Given the description of an element on the screen output the (x, y) to click on. 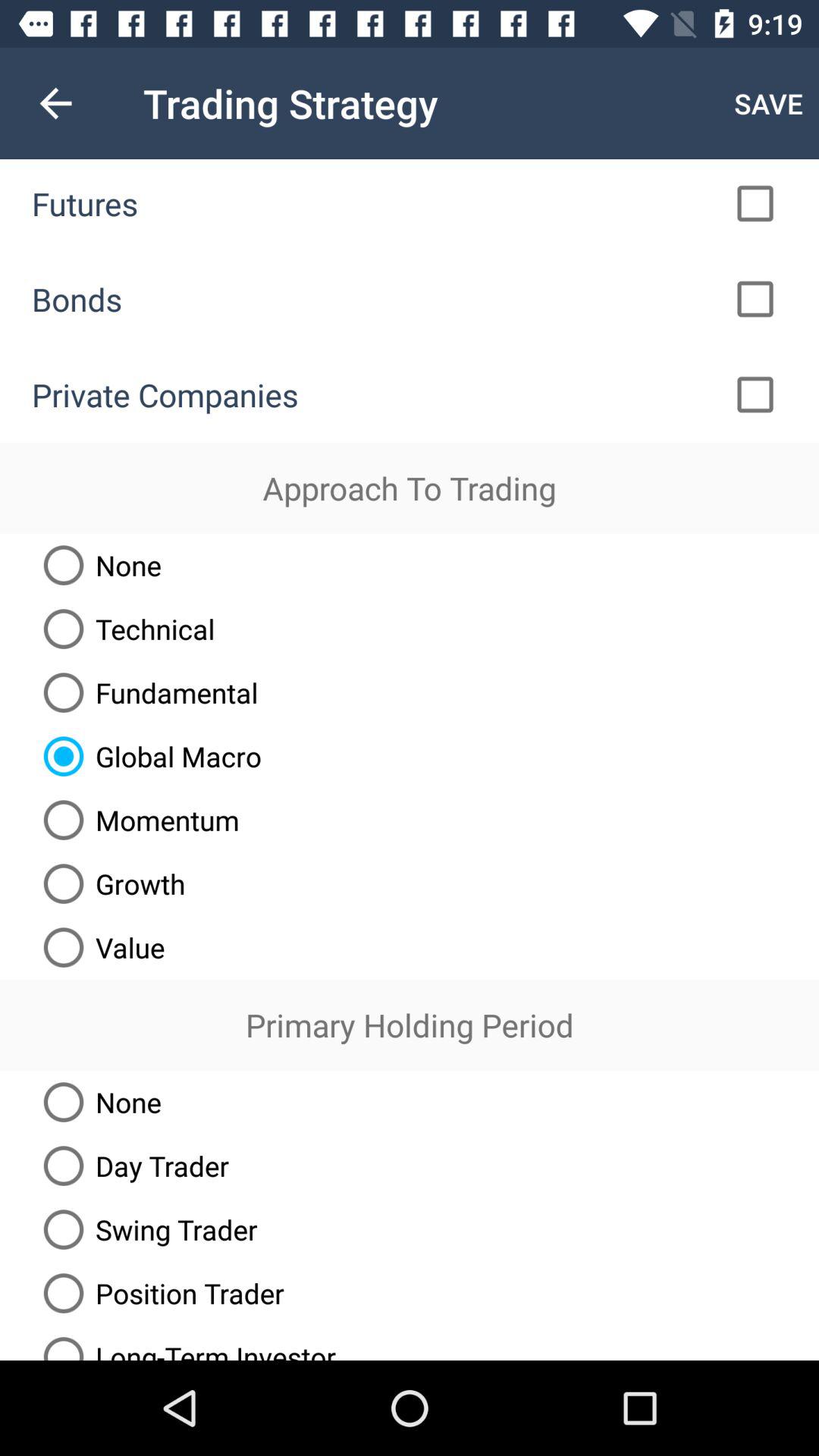
click icon below the none (122, 628)
